Given the description of an element on the screen output the (x, y) to click on. 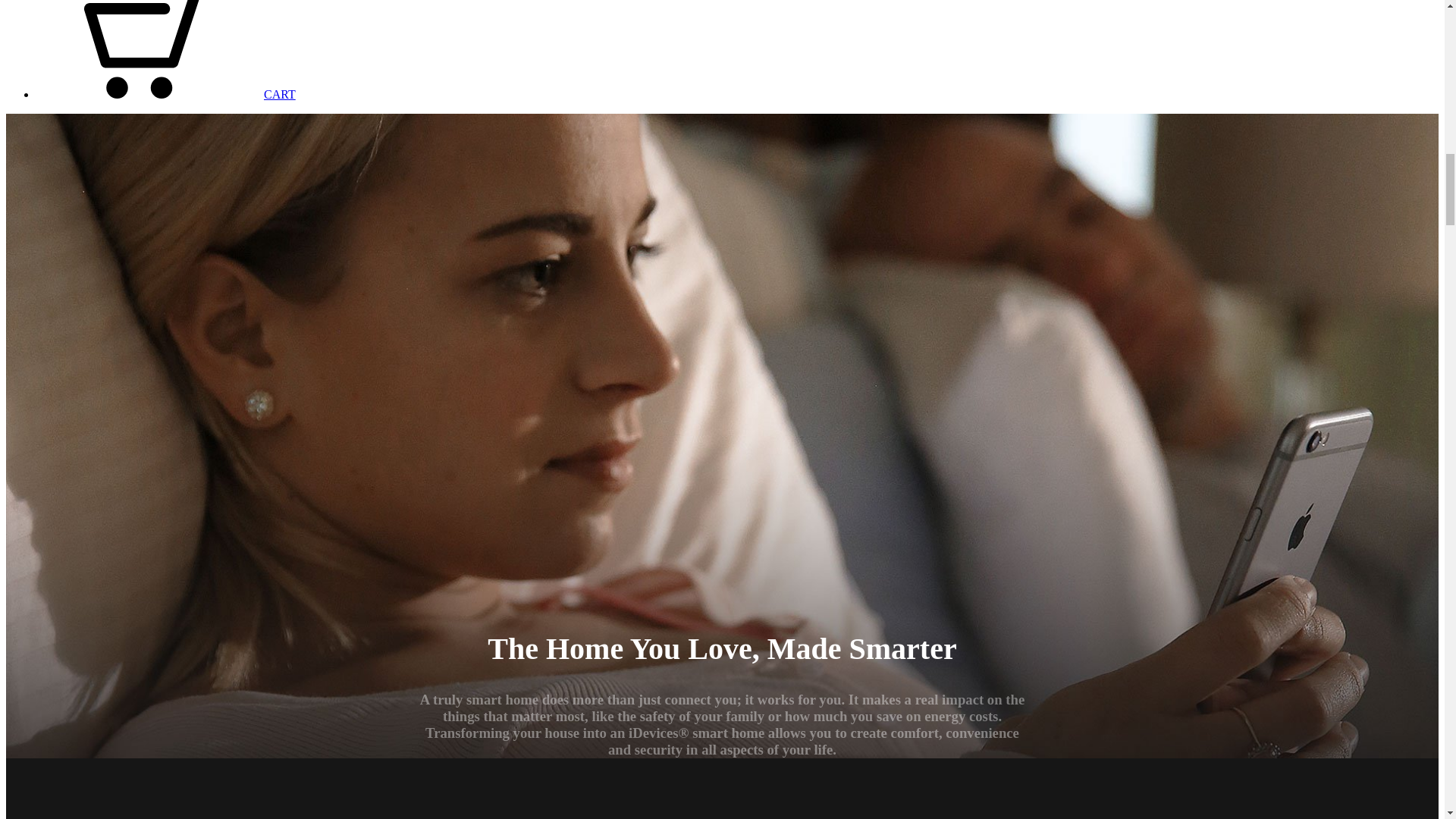
CART (165, 93)
